Given the description of an element on the screen output the (x, y) to click on. 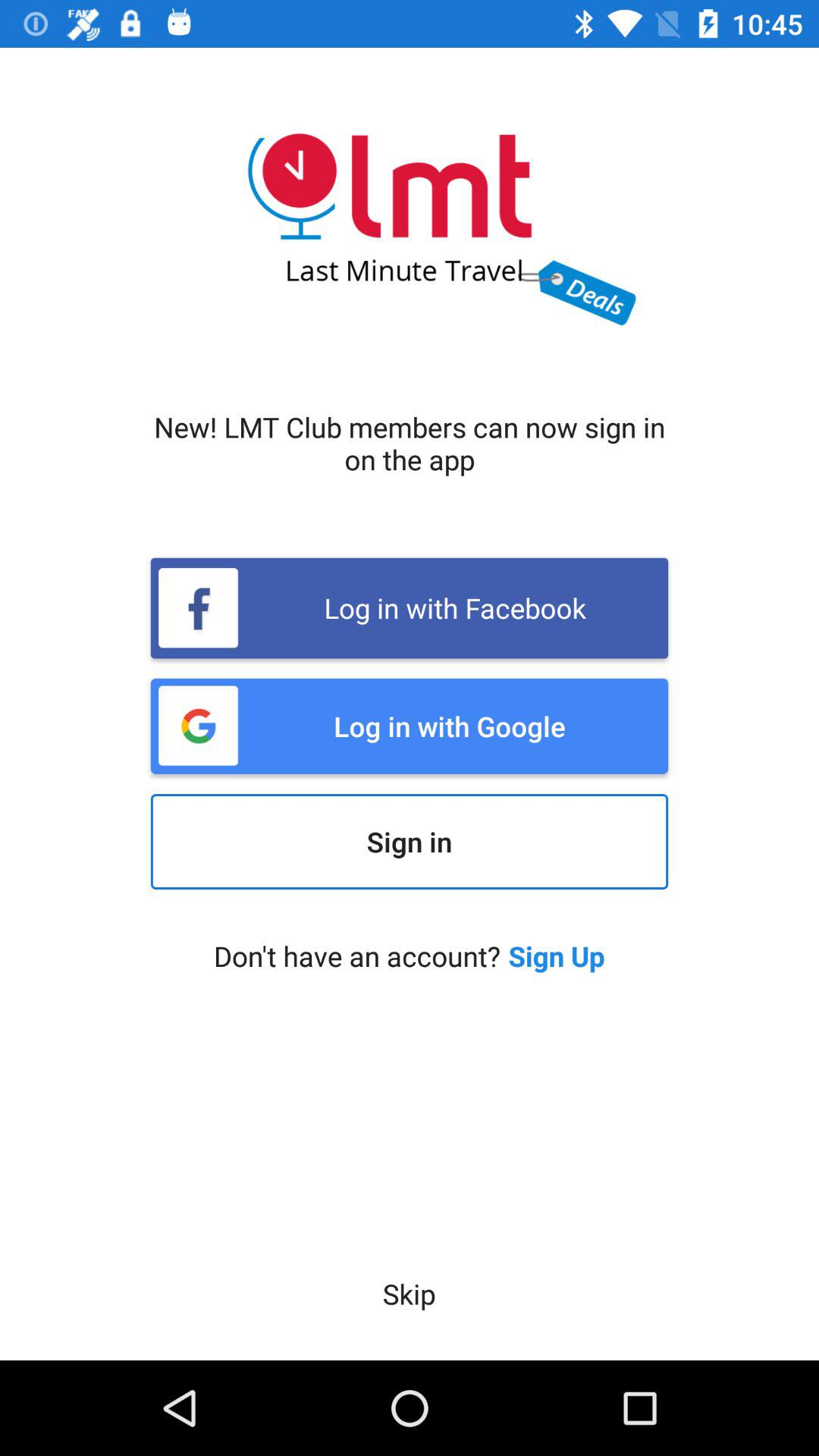
choose the skip icon (408, 1293)
